Given the description of an element on the screen output the (x, y) to click on. 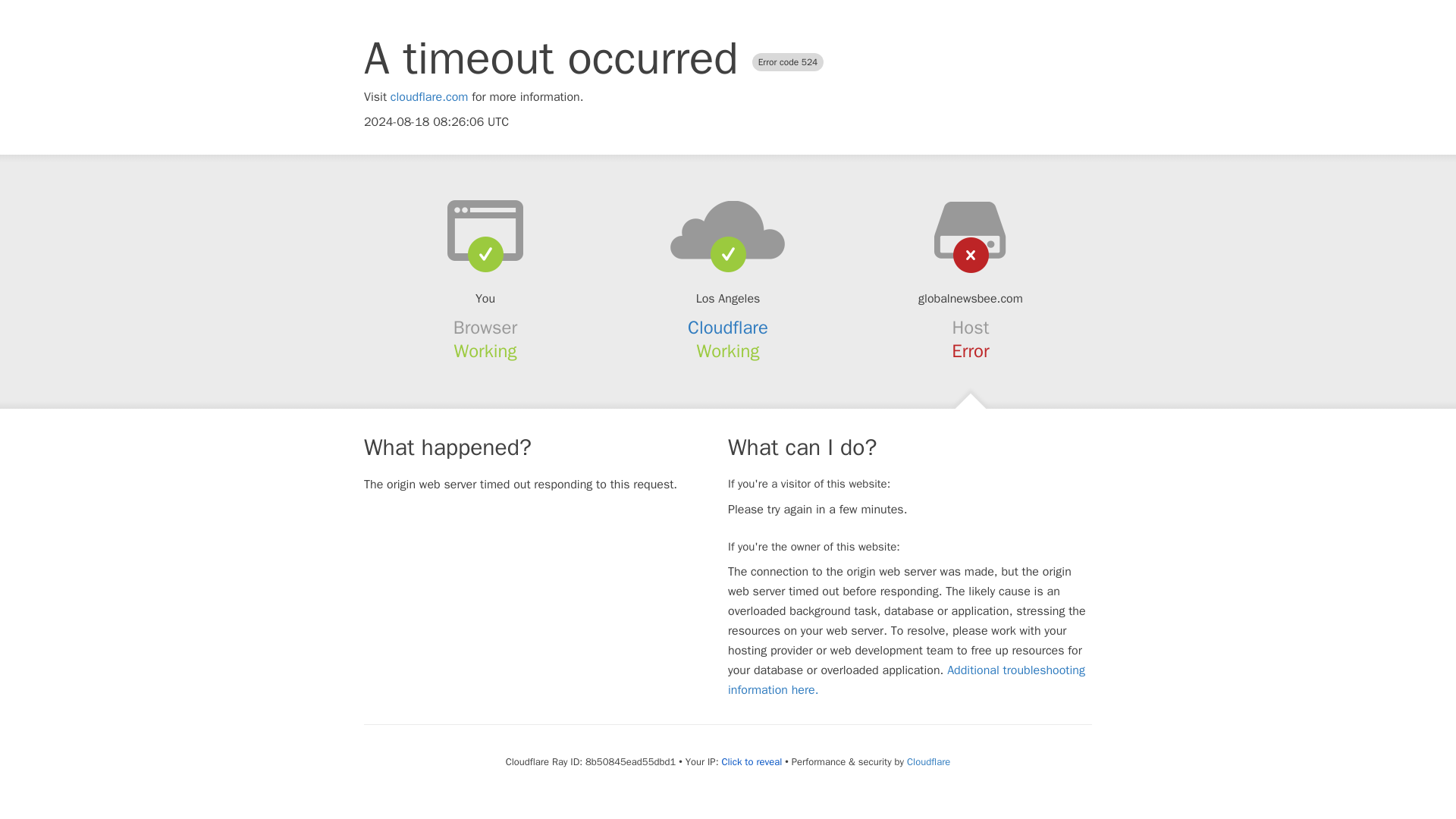
Additional troubleshooting information here. (906, 679)
Click to reveal (750, 762)
cloudflare.com (429, 96)
Cloudflare (727, 327)
Cloudflare (928, 761)
